Given the description of an element on the screen output the (x, y) to click on. 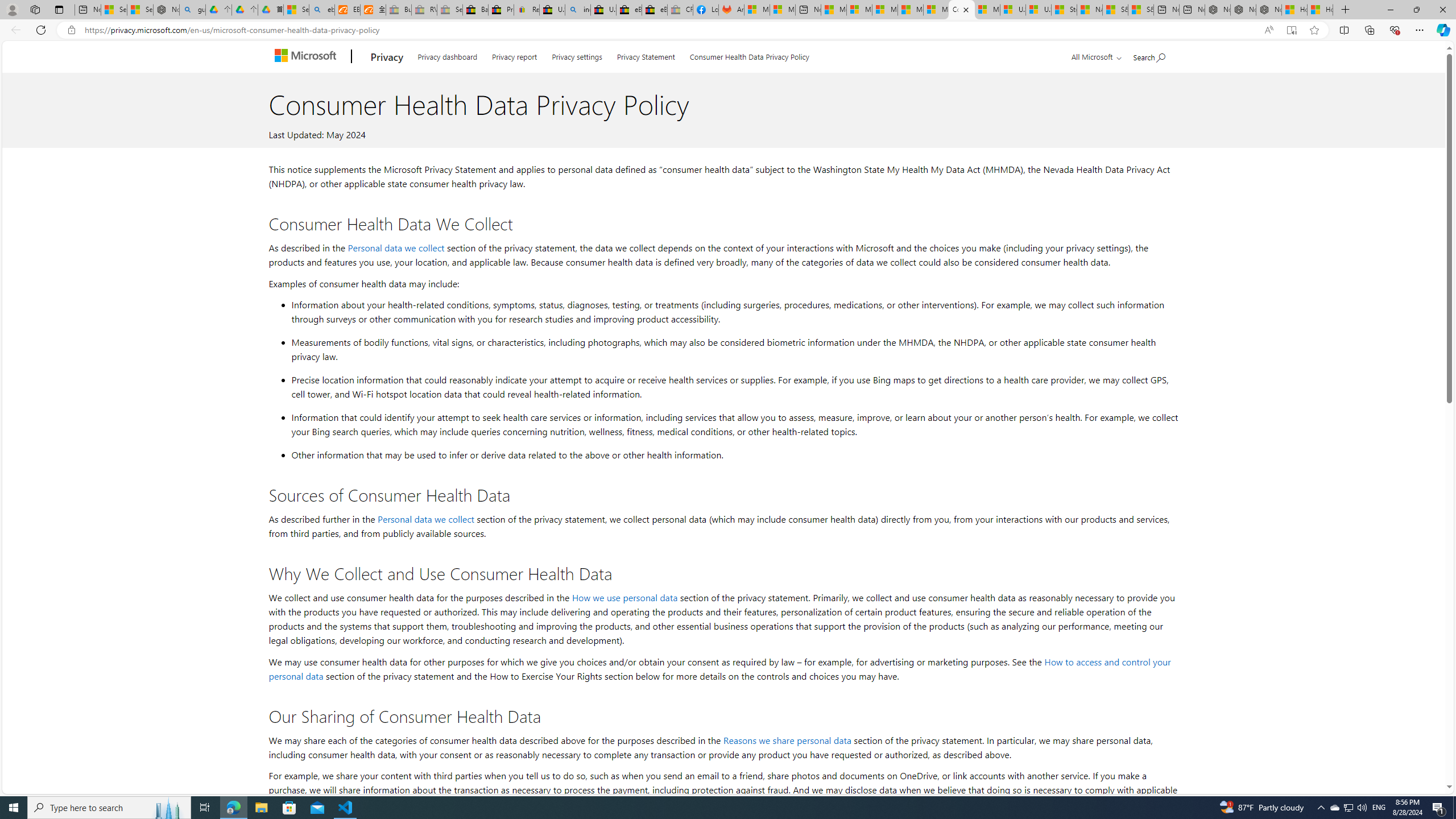
Personal data we collect (425, 518)
Press Room - eBay Inc. (500, 9)
How to access and control your personal data (718, 668)
Buy Auto Parts & Accessories | eBay - Sleeping (398, 9)
Privacy dashboard (447, 54)
How to Use a Monitor With Your Closed Laptop (1320, 9)
